Given the description of an element on the screen output the (x, y) to click on. 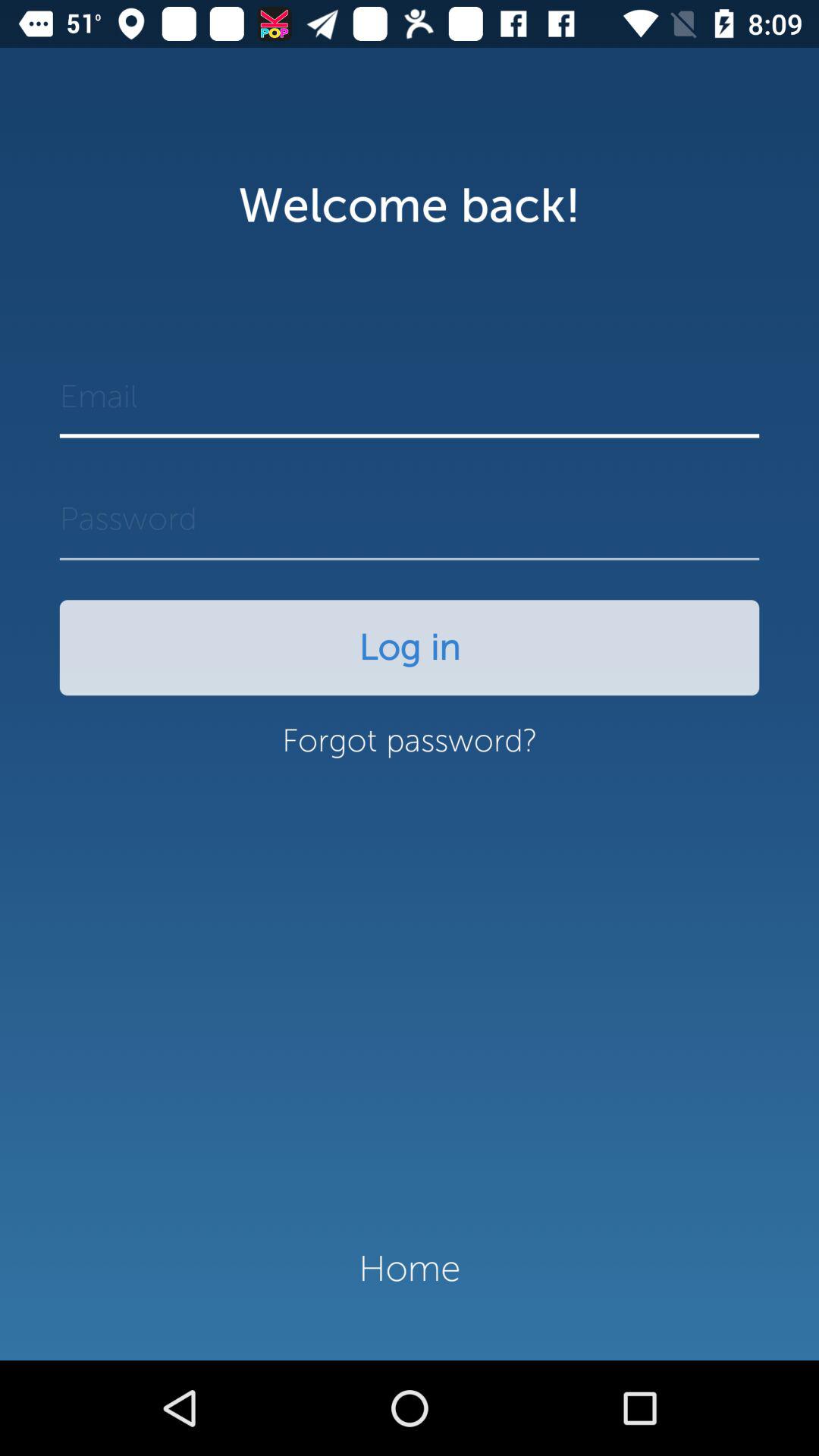
turn off the item below the log in (409, 748)
